Given the description of an element on the screen output the (x, y) to click on. 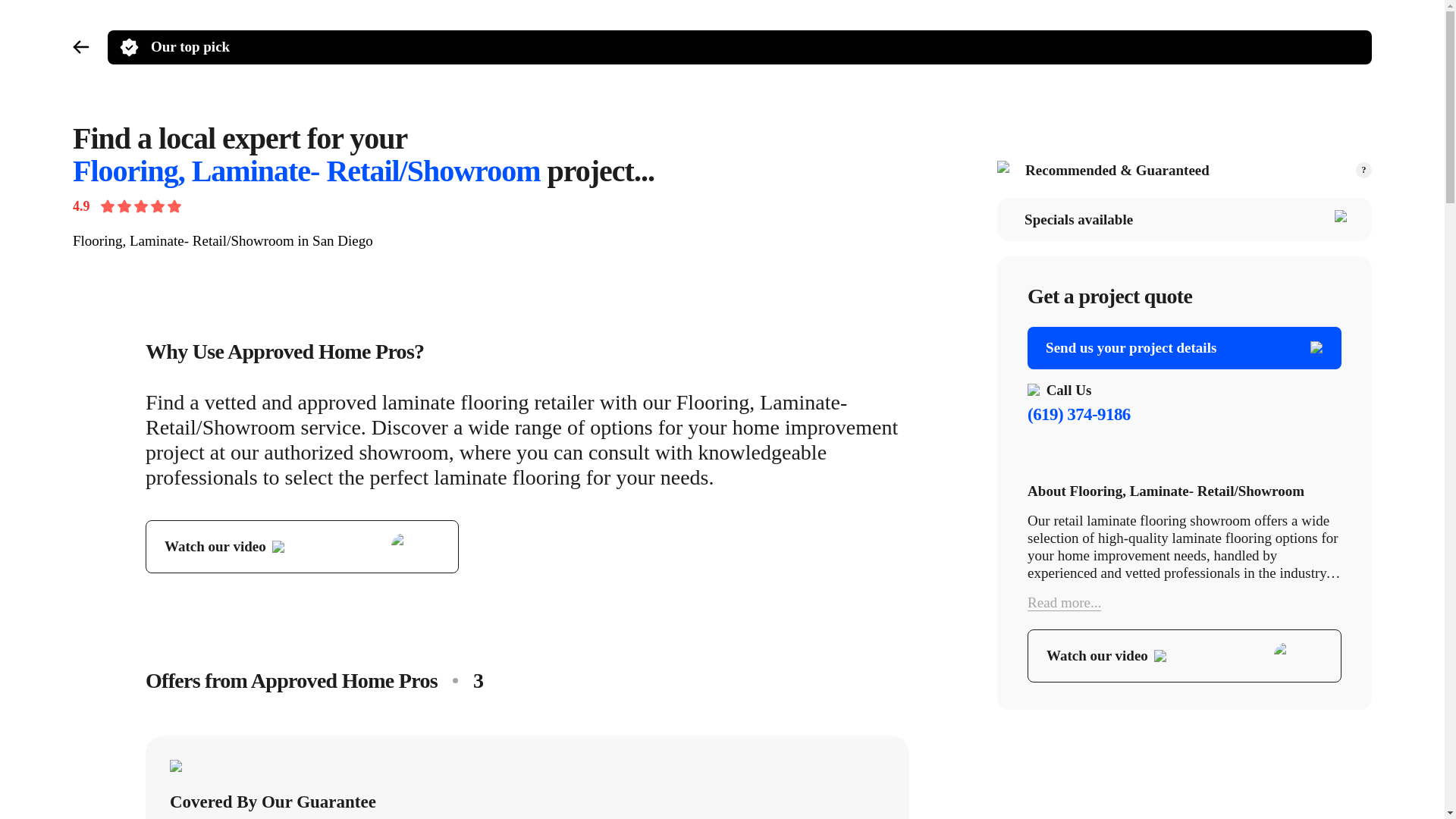
Send us your project details (1183, 347)
Watch our video (1183, 655)
? (1363, 170)
Read more... (1183, 601)
Watch our video (301, 546)
